Given the description of an element on the screen output the (x, y) to click on. 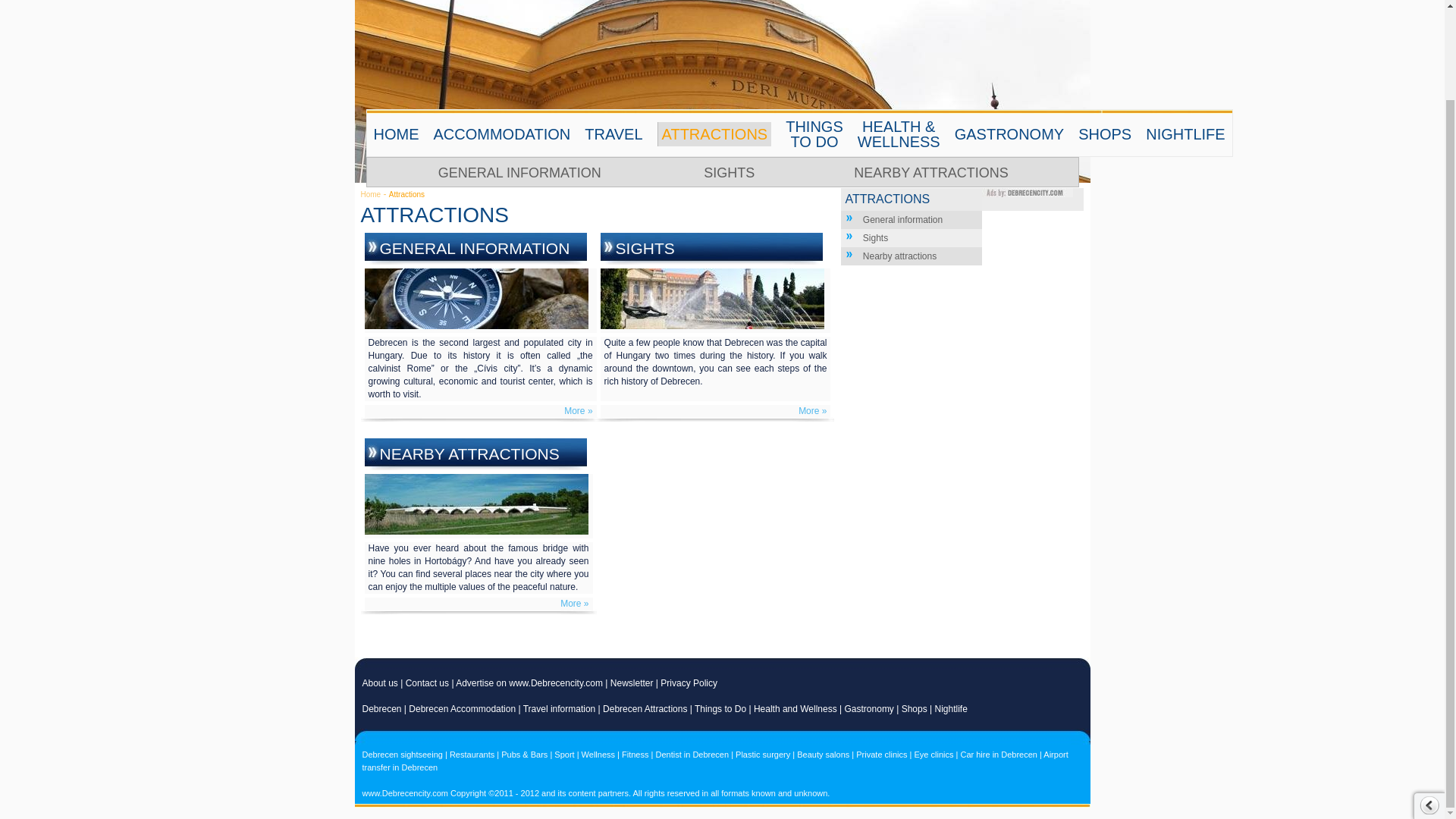
NIGHTLIFE (1184, 134)
Nearby attractions (899, 255)
Things to Do (719, 708)
Debrecen (381, 708)
Debrecen Accommodation (462, 708)
Sights (875, 237)
SIGHTS  (647, 248)
Debrecen Attractions (644, 708)
Privacy Policy (689, 683)
Home (371, 194)
